Given the description of an element on the screen output the (x, y) to click on. 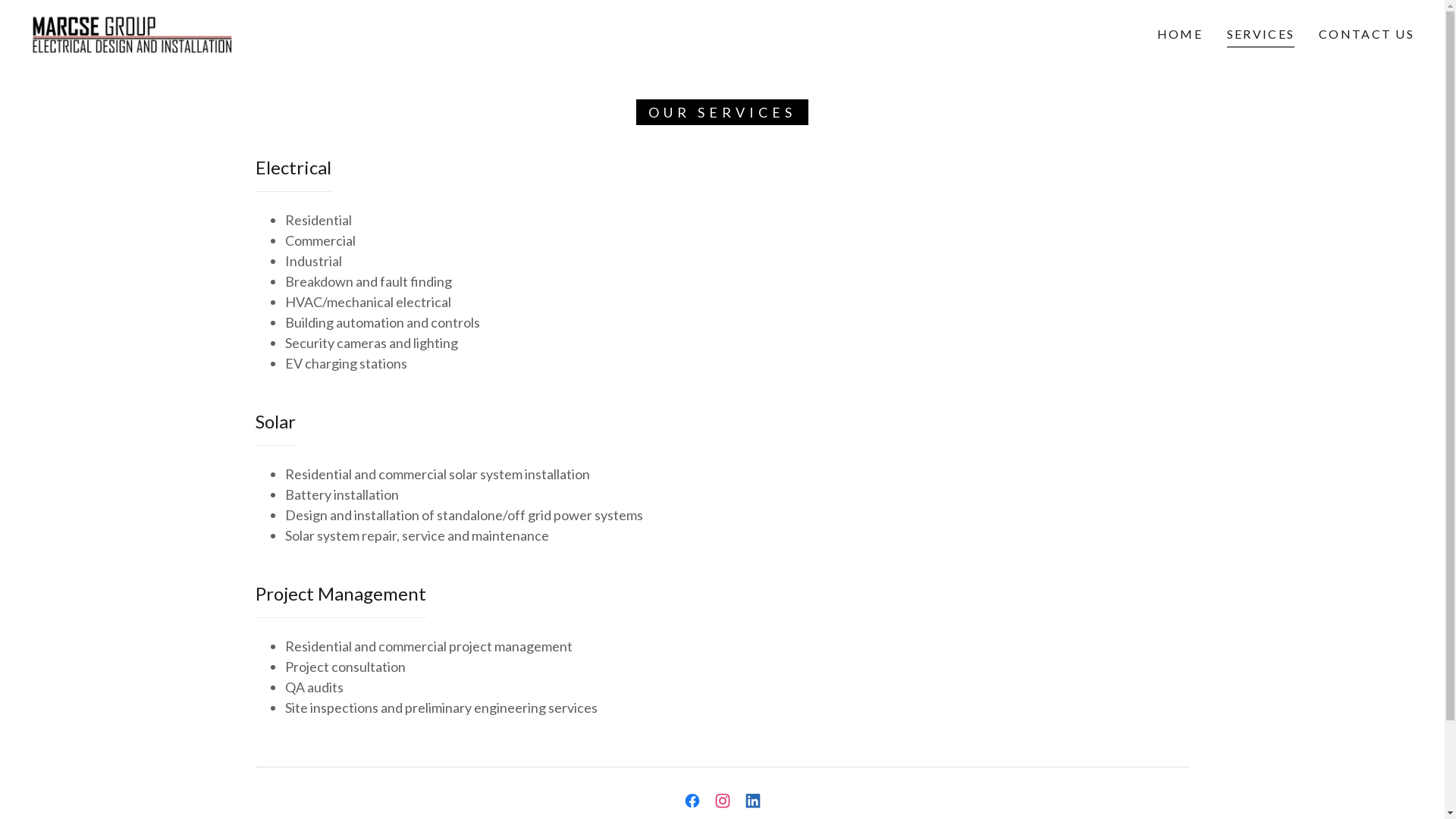
Marcse Group  Element type: hover (131, 32)
SERVICES Element type: text (1260, 36)
HOME Element type: text (1179, 33)
CONTACT US Element type: text (1366, 33)
